Given the description of an element on the screen output the (x, y) to click on. 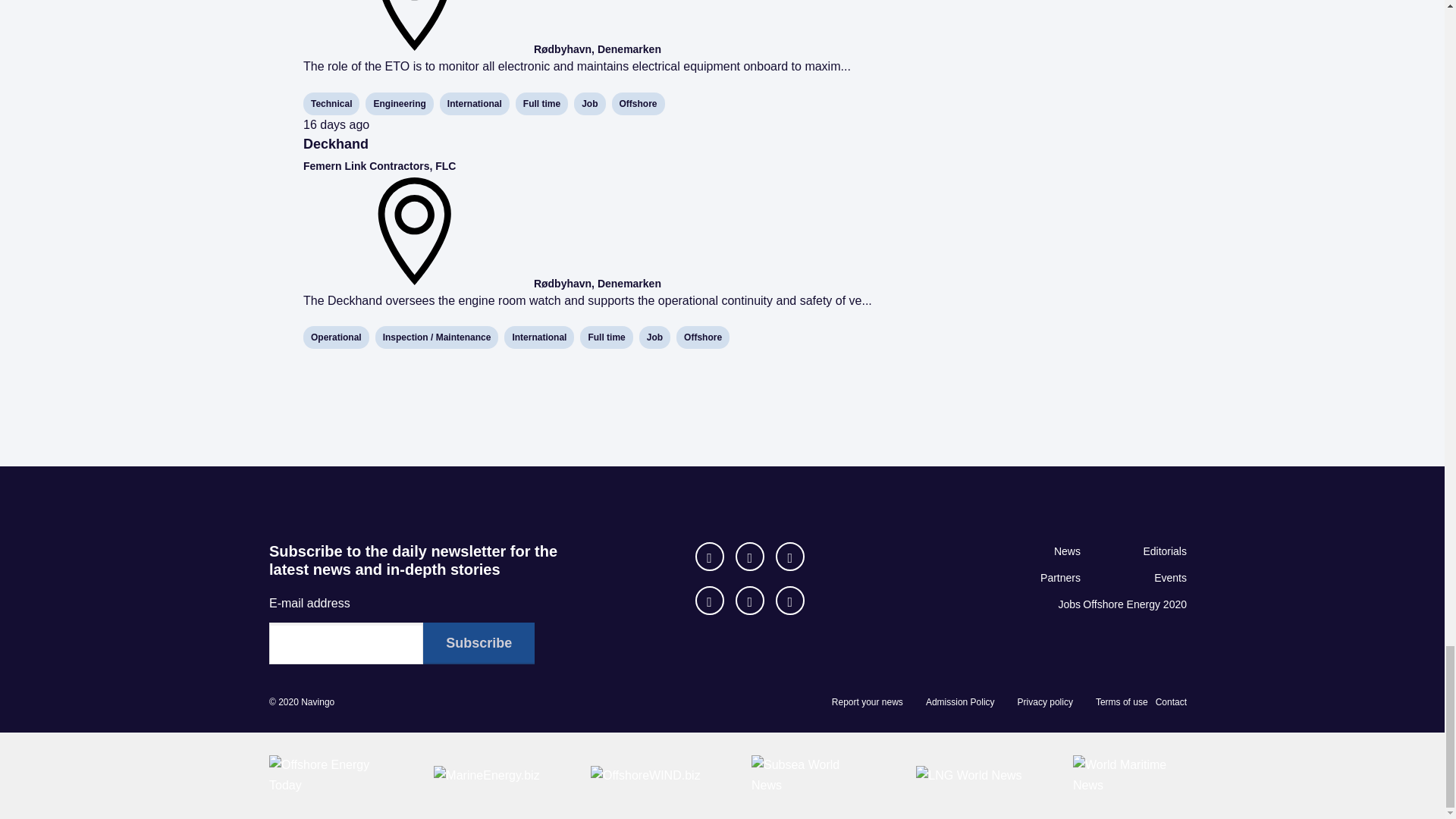
Subscribe (478, 643)
